Given the description of an element on the screen output the (x, y) to click on. 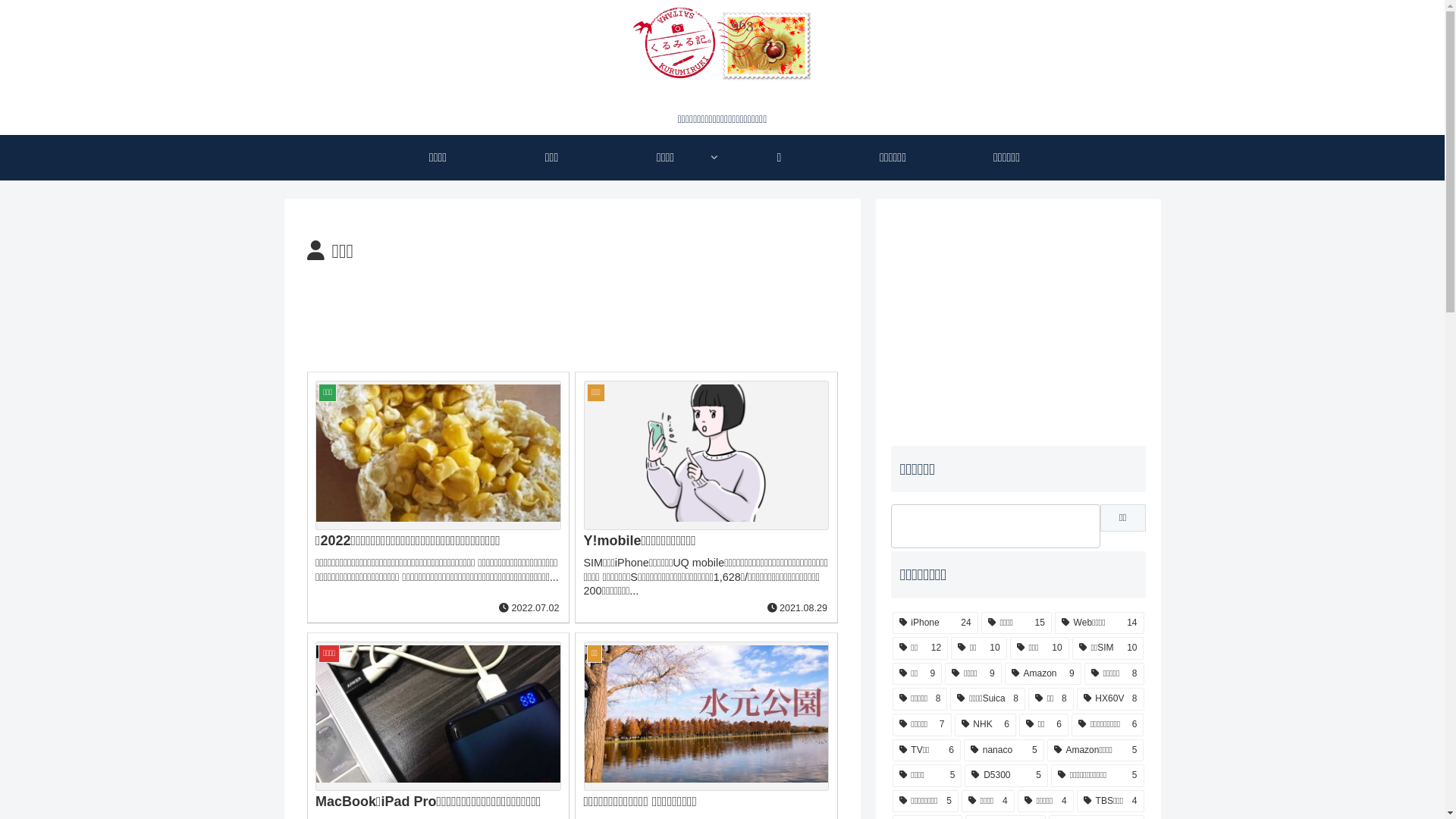
Advertisement Element type: hover (571, 314)
iPhone
24 Element type: text (934, 622)
HX60V
8 Element type: text (1110, 698)
D5300
5 Element type: text (1006, 775)
Amazon
9 Element type: text (1042, 673)
Advertisement Element type: hover (1017, 319)
NHK
6 Element type: text (985, 724)
nanaco
5 Element type: text (1003, 750)
